Given the description of an element on the screen output the (x, y) to click on. 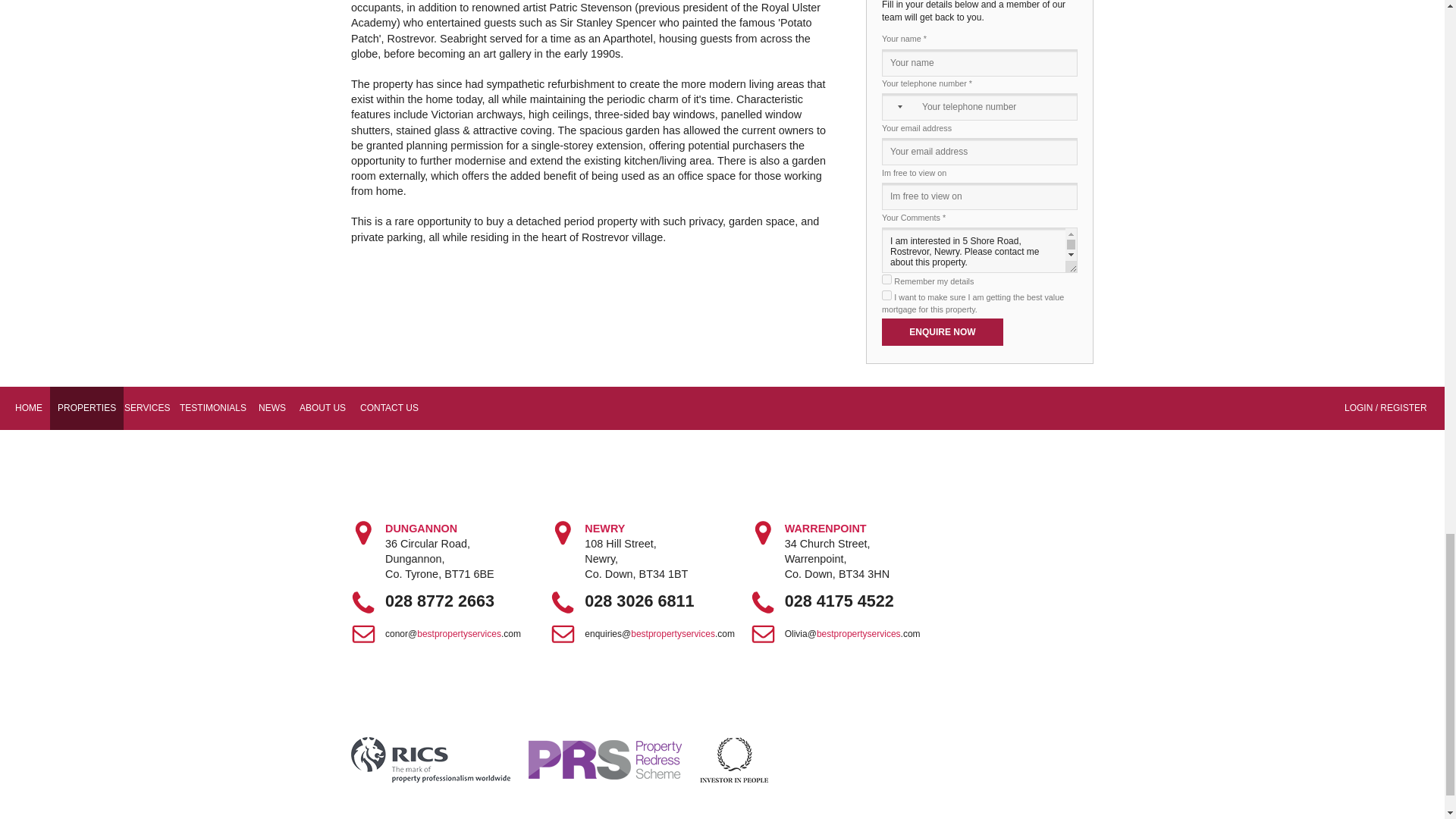
true (886, 279)
true (886, 295)
